Given the description of an element on the screen output the (x, y) to click on. 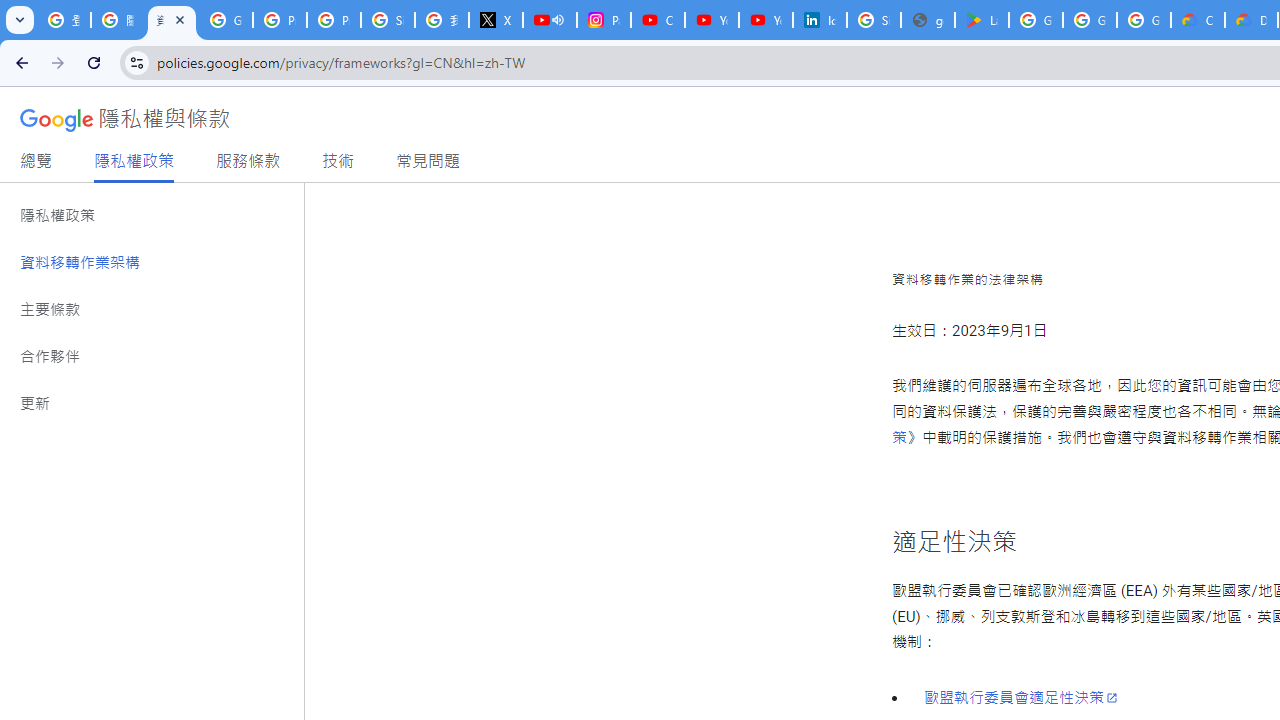
X (495, 20)
Privacy Help Center - Policies Help (280, 20)
Customer Care | Google Cloud (1197, 20)
Sign in - Google Accounts (874, 20)
Mute tab (557, 20)
Sign in - Google Accounts (387, 20)
Google Workspace - Specific Terms (1144, 20)
